Given the description of an element on the screen output the (x, y) to click on. 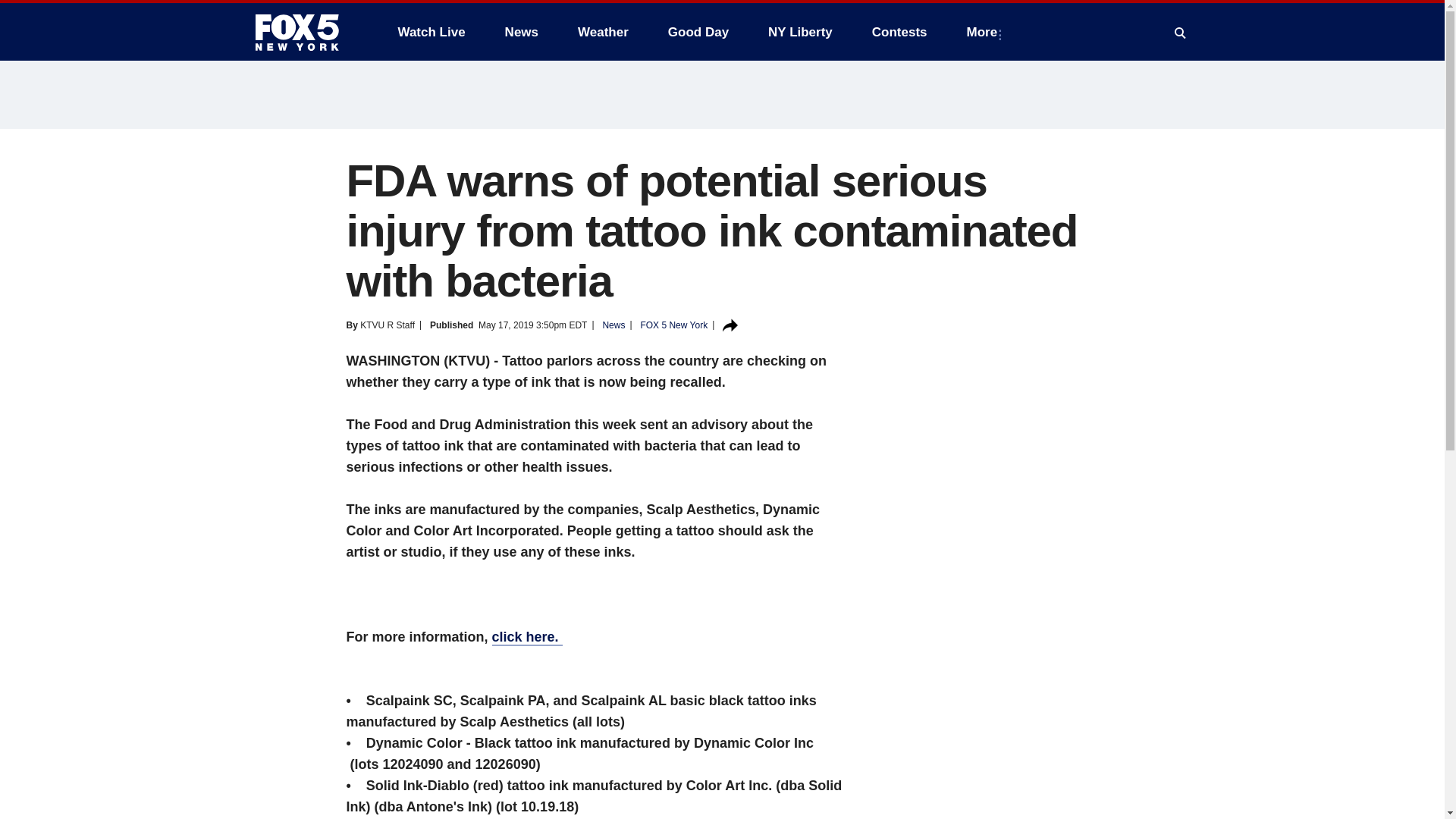
Good Day (698, 32)
Contests (899, 32)
NY Liberty (799, 32)
More (985, 32)
Weather (603, 32)
News (521, 32)
Watch Live (431, 32)
